Given the description of an element on the screen output the (x, y) to click on. 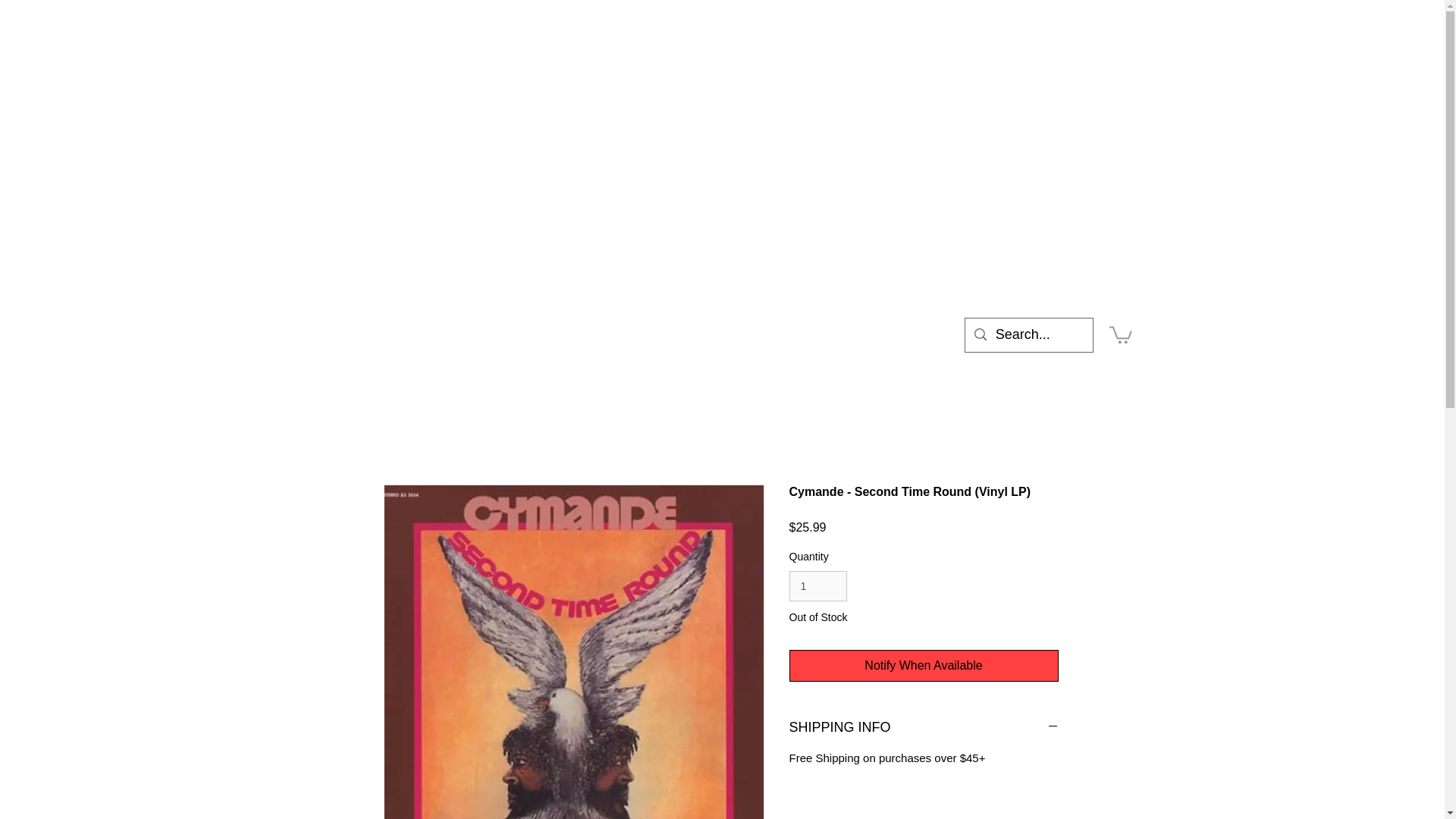
1 (817, 585)
SHIPPING INFO (923, 727)
Notify When Available (923, 665)
